Given the description of an element on the screen output the (x, y) to click on. 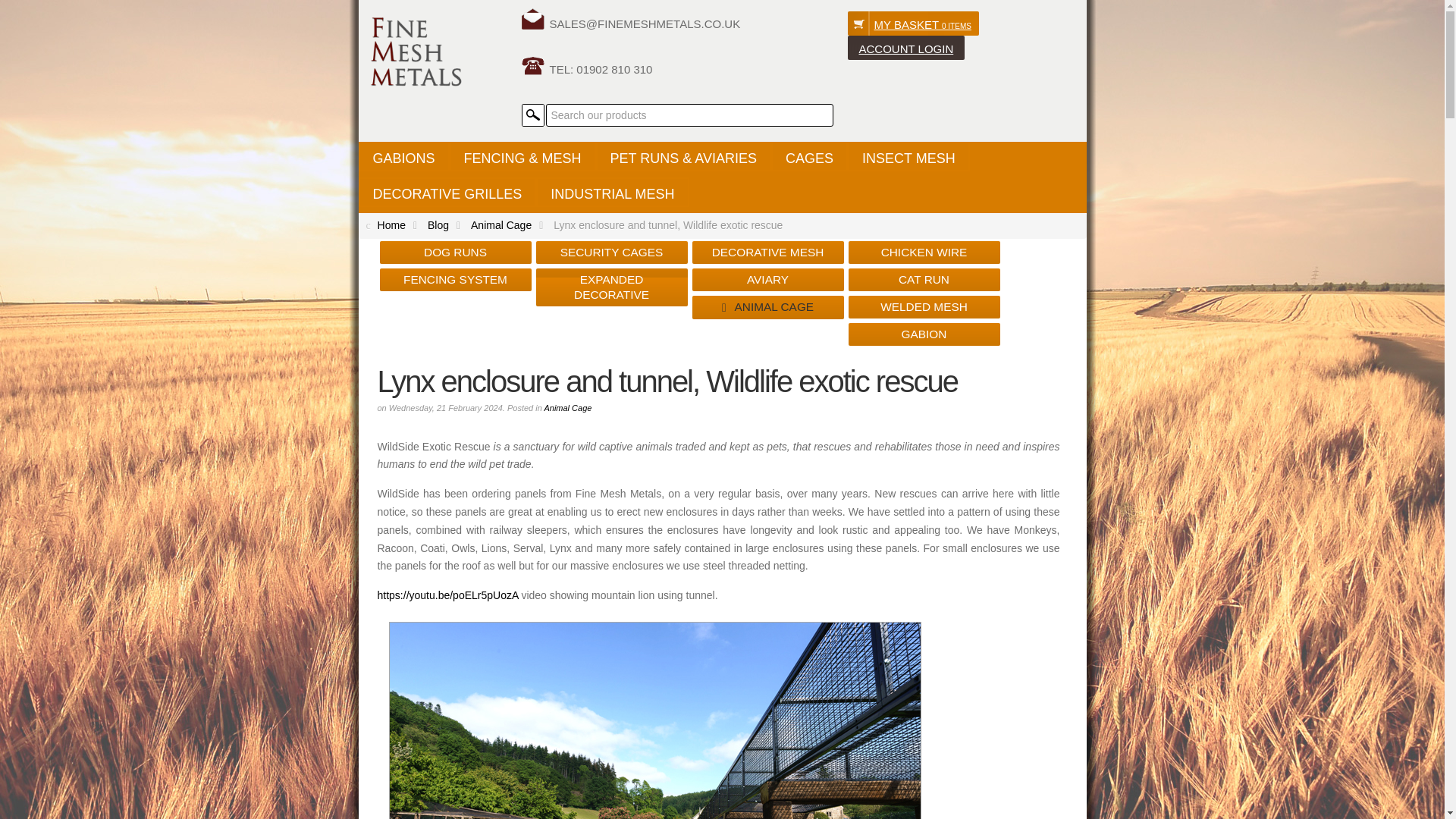
MY BASKET 0 ITEMS (912, 23)
Blog (447, 224)
ACCOUNT LOGIN (906, 47)
CAT RUN (923, 279)
"For (631, 22)
Submit (532, 115)
AVIARY (766, 279)
Account Login (906, 47)
CHICKEN WIRE (923, 252)
Welded Mesh (414, 51)
